Given the description of an element on the screen output the (x, y) to click on. 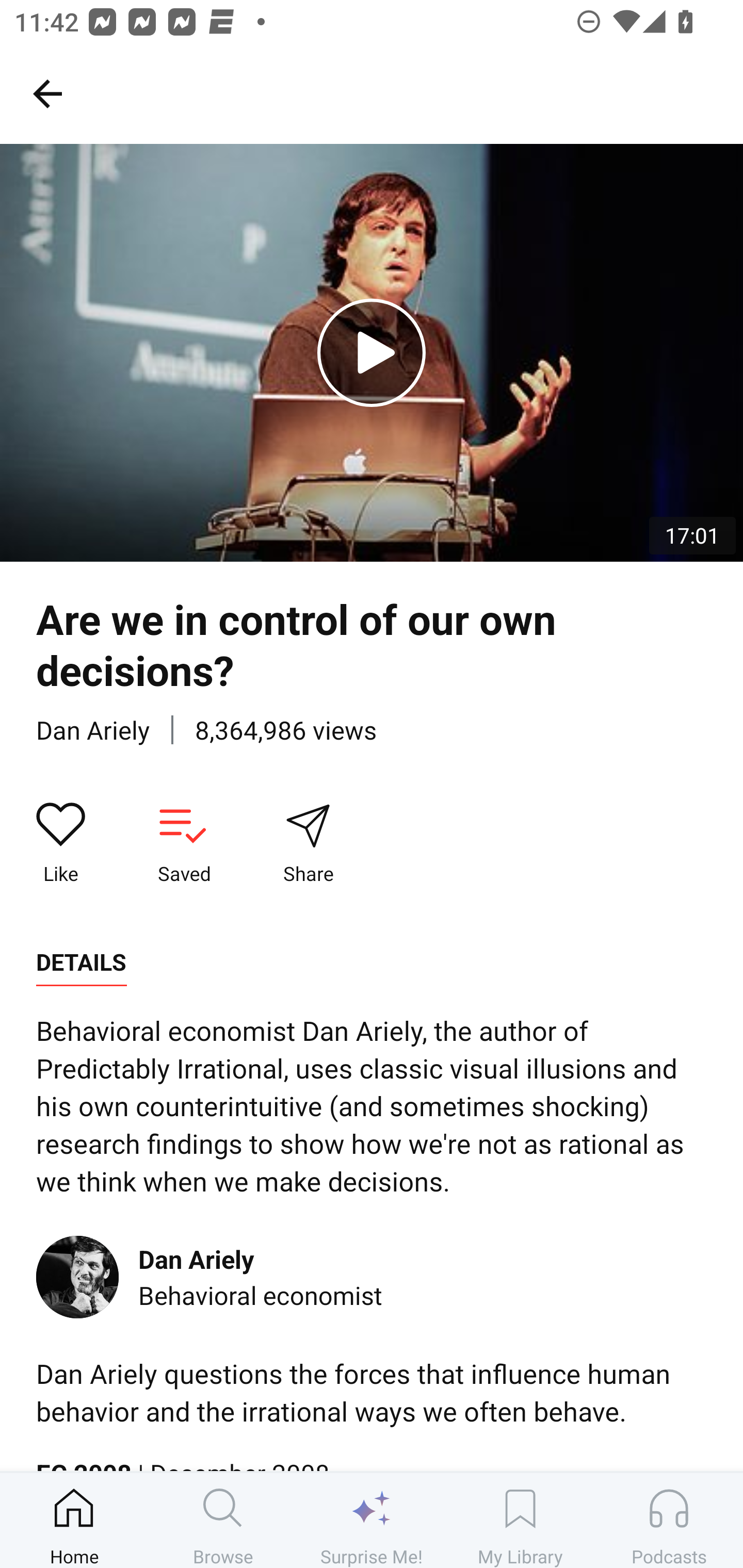
Home, back (47, 92)
Like (60, 843)
Saved (183, 843)
Share (308, 843)
DETAILS (80, 962)
Home (74, 1520)
Browse (222, 1520)
Surprise Me! (371, 1520)
My Library (519, 1520)
Podcasts (668, 1520)
